Given the description of an element on the screen output the (x, y) to click on. 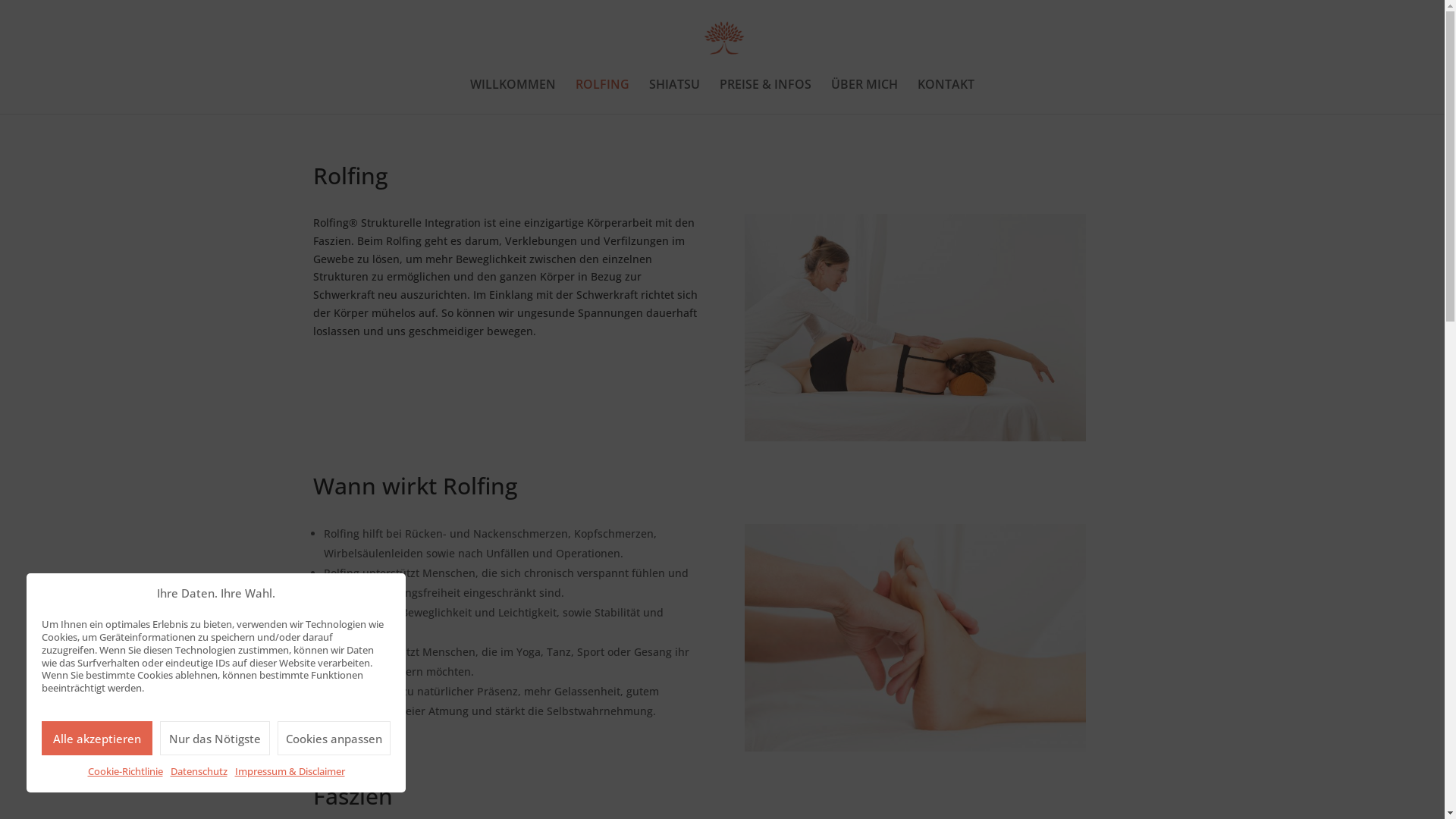
PREISE & INFOS Element type: text (765, 95)
Alle akzeptieren Element type: text (96, 738)
SHIATSU Element type: text (674, 95)
Impressum & Disclaimer Element type: text (290, 771)
KONTAKT Element type: text (945, 95)
ROLFING Element type: text (602, 95)
WILLKOMMEN Element type: text (512, 95)
Cookies anpassen Element type: text (333, 738)
Cookie-Richtlinie Element type: text (125, 771)
Datenschutz Element type: text (197, 771)
